Given the description of an element on the screen output the (x, y) to click on. 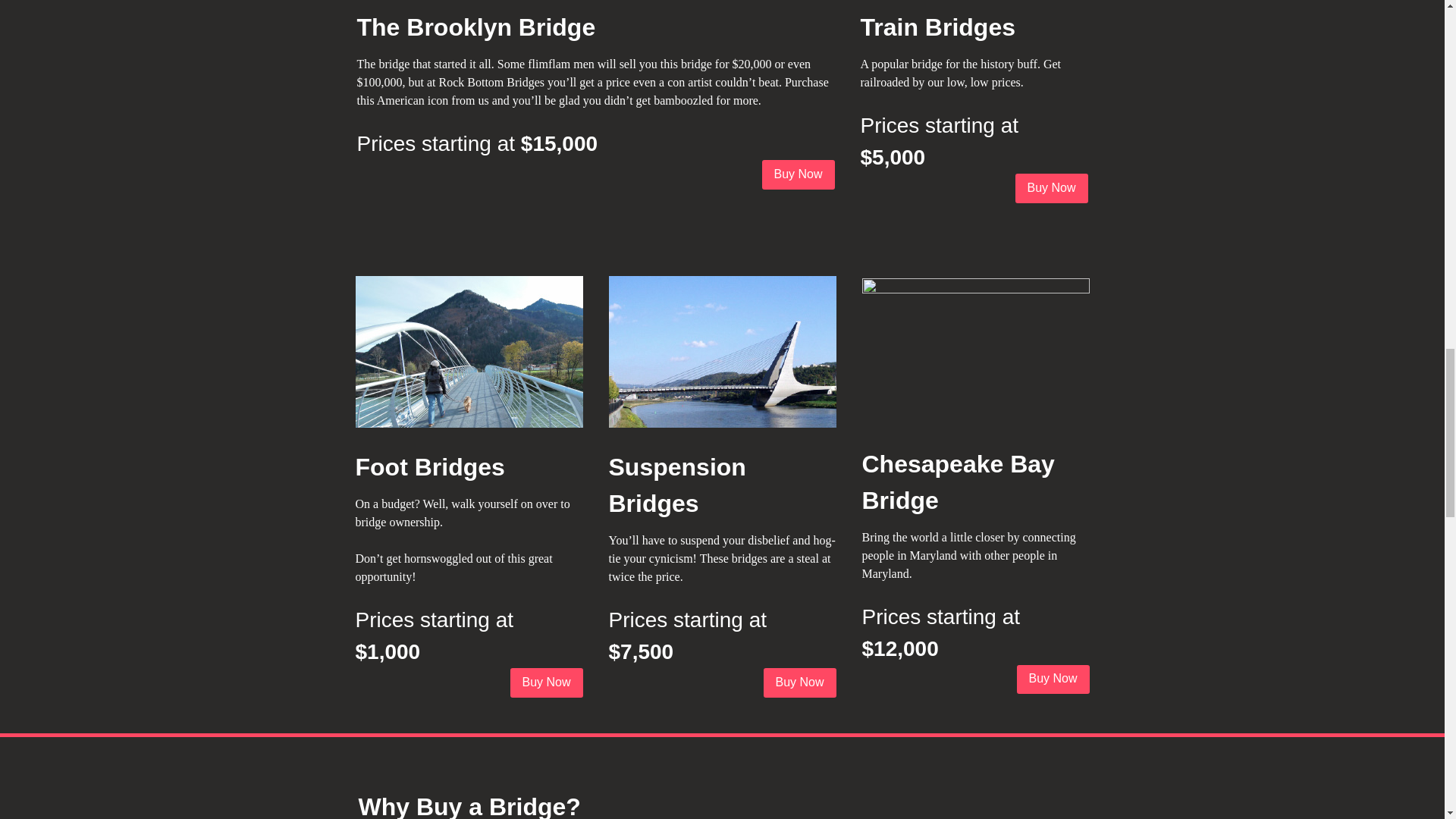
Buy Now (797, 174)
Buy Now (1052, 679)
Buy Now (1050, 187)
Buy Now (798, 682)
Buy Now (545, 682)
